Given the description of an element on the screen output the (x, y) to click on. 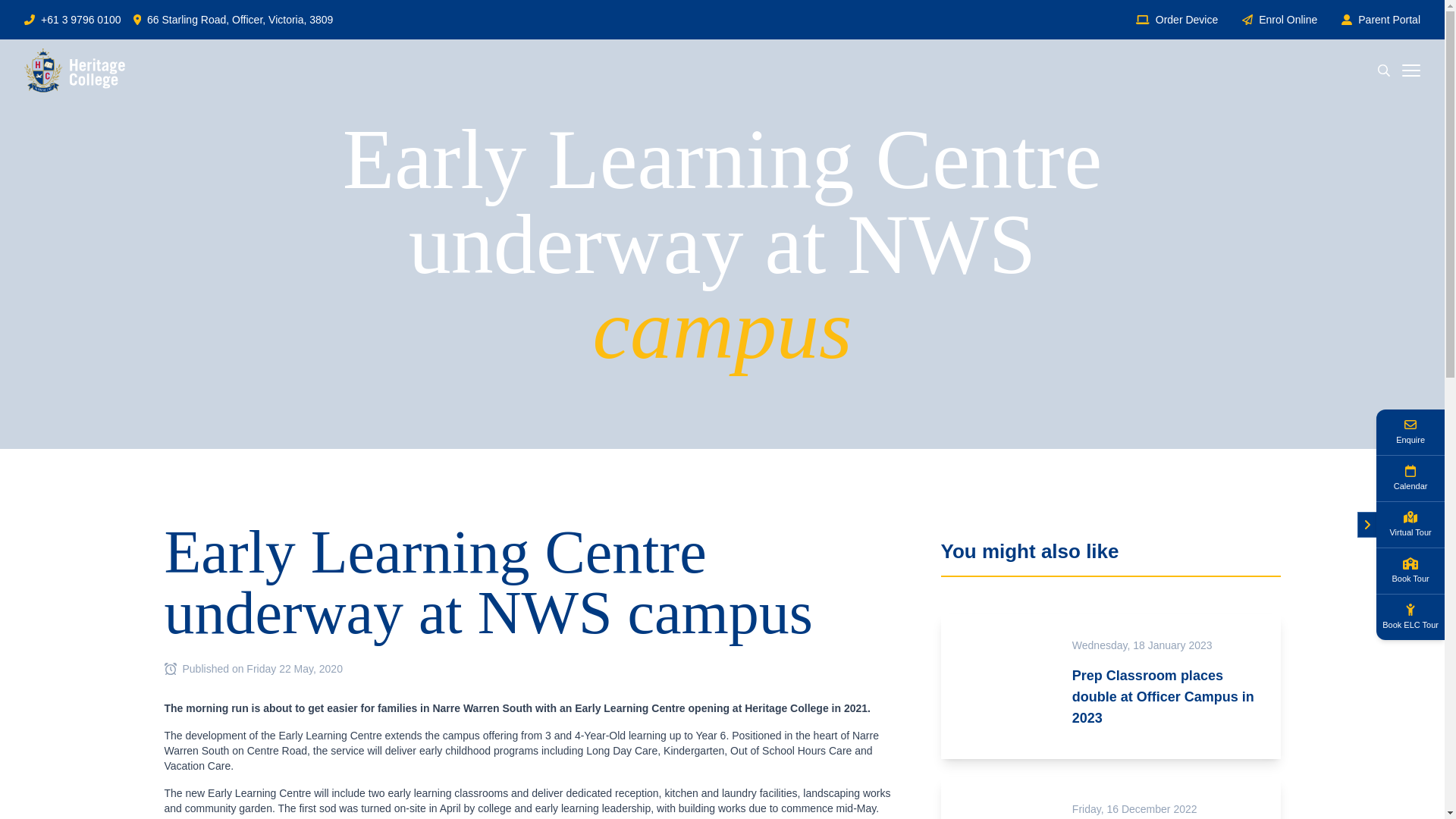
Parent Portal (1389, 19)
Order Device (1186, 19)
Enrol Online (1288, 19)
Heritage College (74, 70)
Heritage College (74, 70)
Open menu (1411, 70)
